Given the description of an element on the screen output the (x, y) to click on. 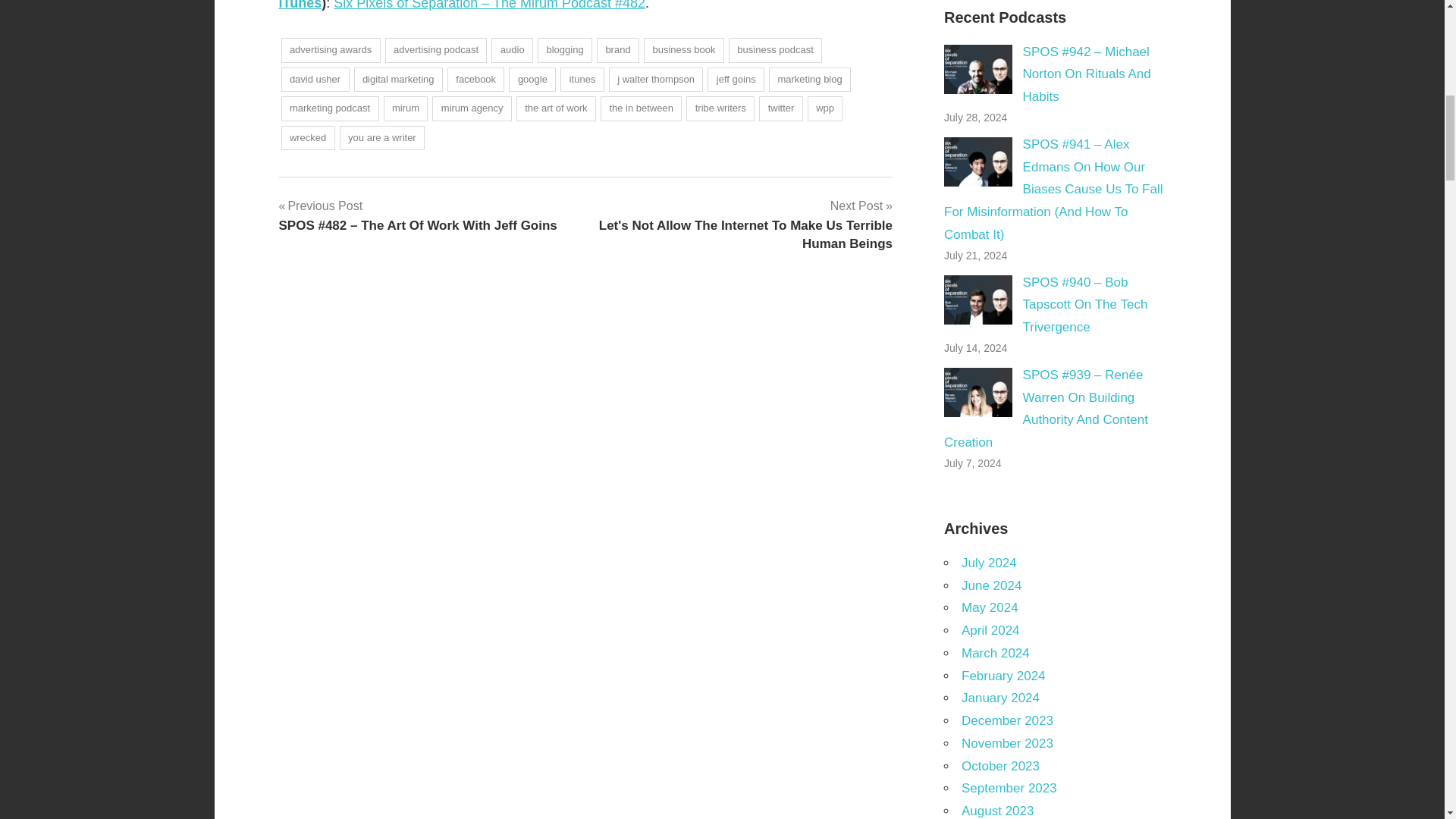
david usher (315, 79)
business book (683, 50)
digital marketing (397, 79)
facebook (475, 79)
subscribe via iTunes (578, 5)
advertising podcast (436, 50)
audio (512, 50)
brand (617, 50)
business podcast (775, 50)
advertising awards (330, 50)
google (532, 79)
blogging (564, 50)
